Given the description of an element on the screen output the (x, y) to click on. 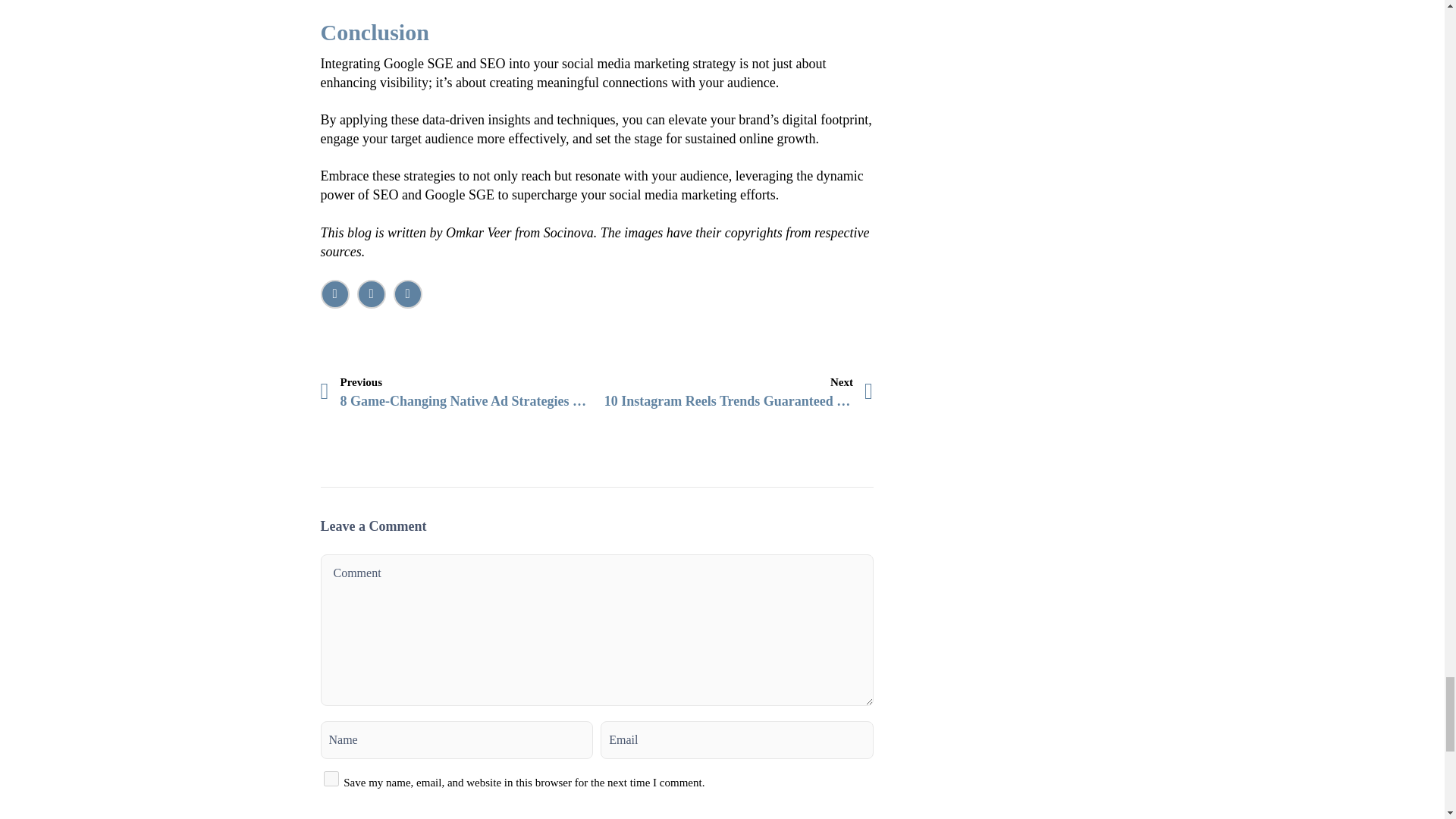
yes (330, 778)
